Given the description of an element on the screen output the (x, y) to click on. 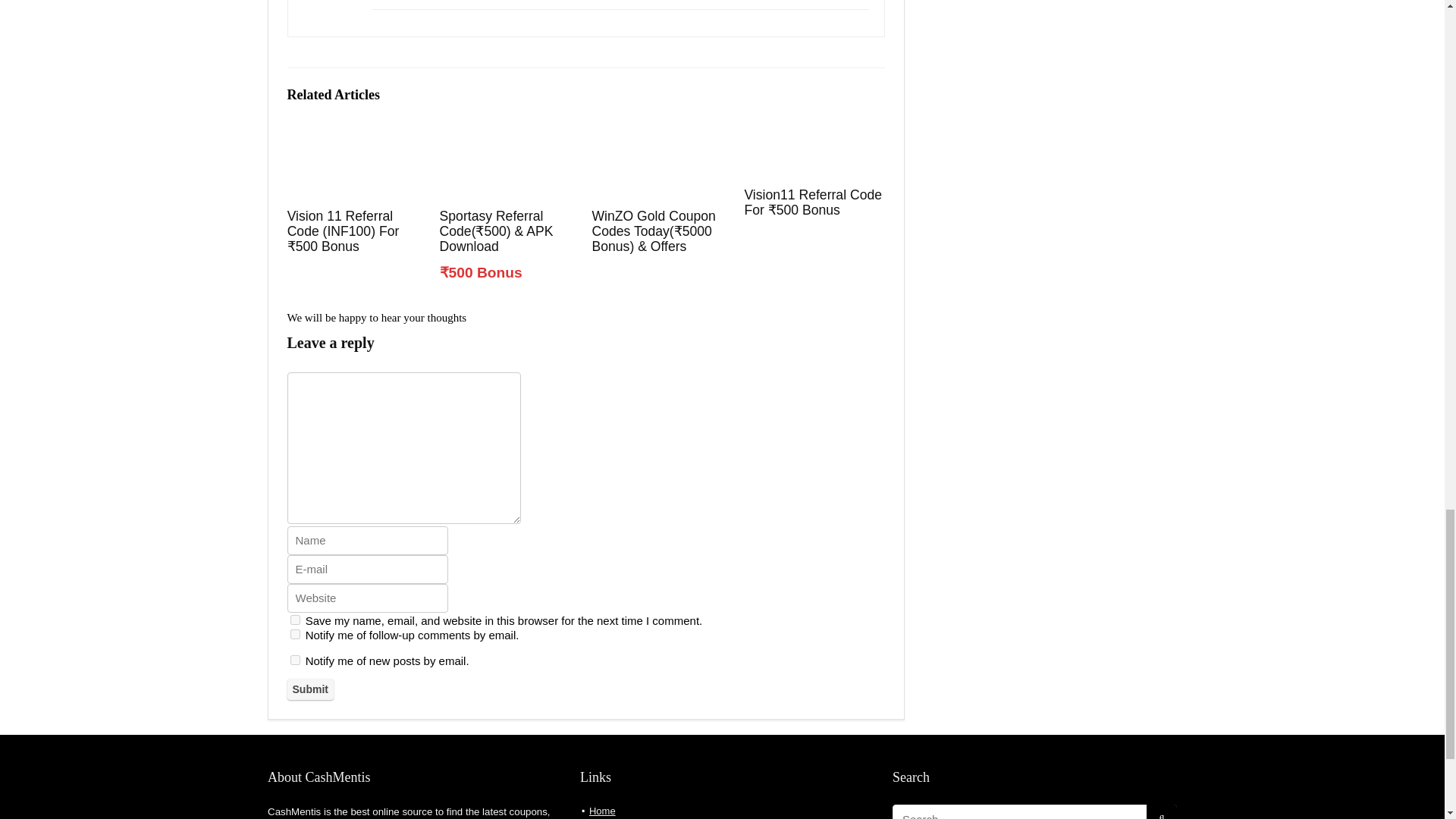
subscribe (321, 715)
Submit (344, 771)
Submit (344, 771)
yes (321, 693)
subscribe (321, 741)
